Given the description of an element on the screen output the (x, y) to click on. 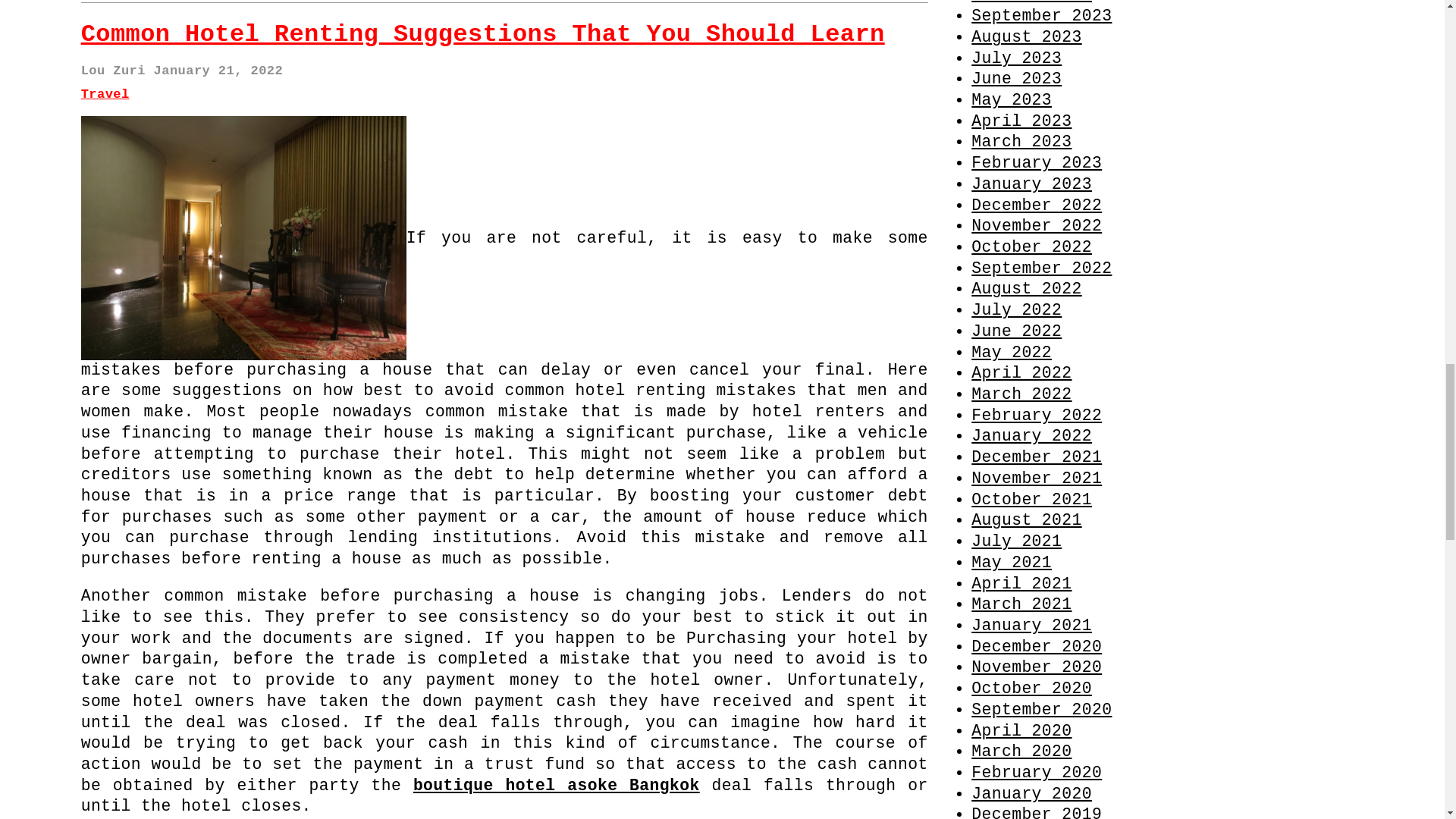
April 2023 (1021, 121)
January 2023 (1031, 184)
View all in Travel (105, 93)
November 2022 (1036, 226)
July 2023 (1016, 58)
Travel (105, 93)
March 2023 (1021, 141)
boutique hotel asoke Bangkok (556, 785)
June 2023 (1016, 78)
December 2022 (1036, 205)
August 2023 (1026, 36)
October 2022 (1031, 247)
Common Hotel Renting Suggestions That You Should Learn (483, 34)
September 2023 (1041, 15)
September 2022 (1041, 268)
